Given the description of an element on the screen output the (x, y) to click on. 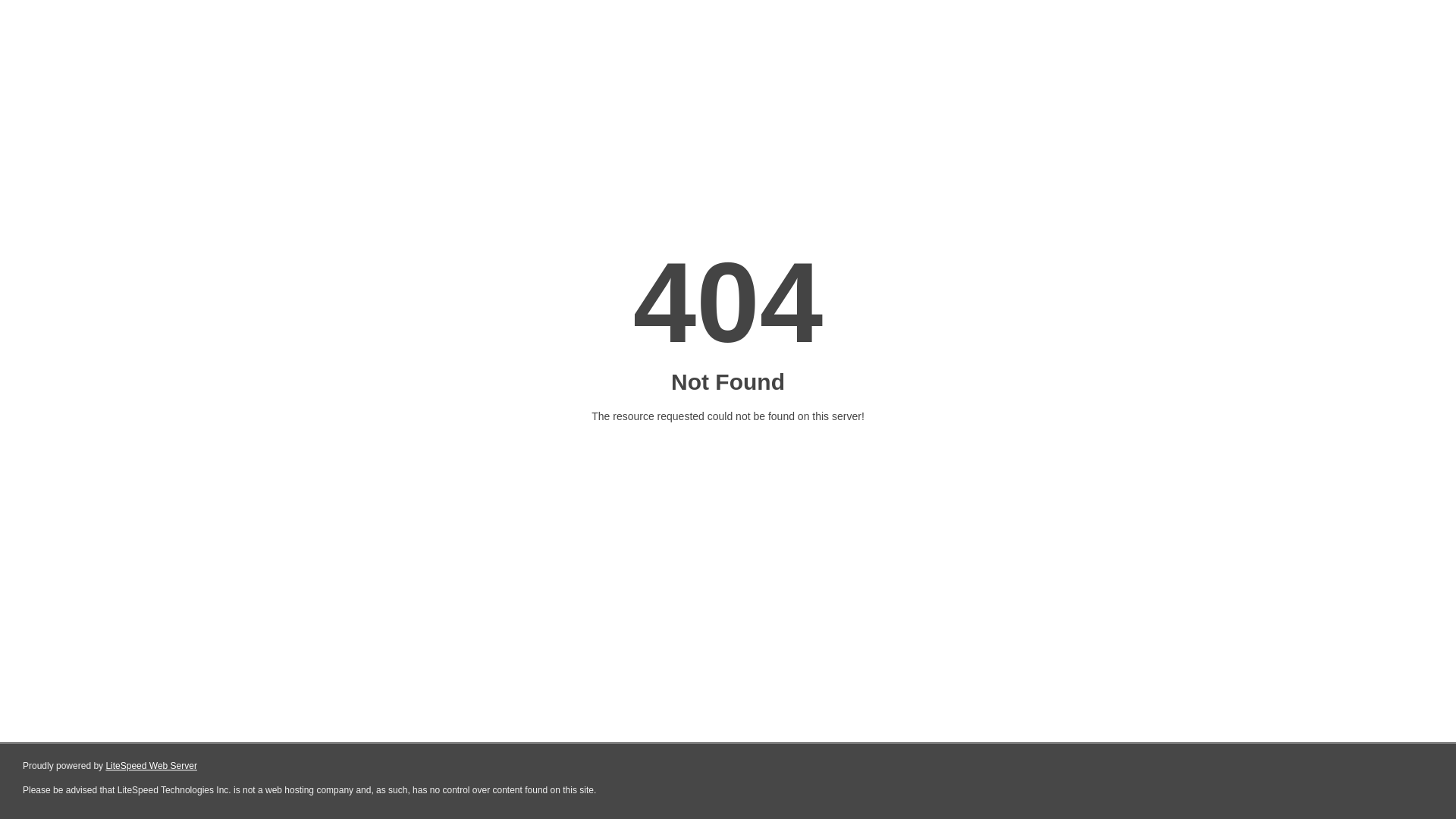
LiteSpeed Web Server Element type: text (151, 765)
